Given the description of an element on the screen output the (x, y) to click on. 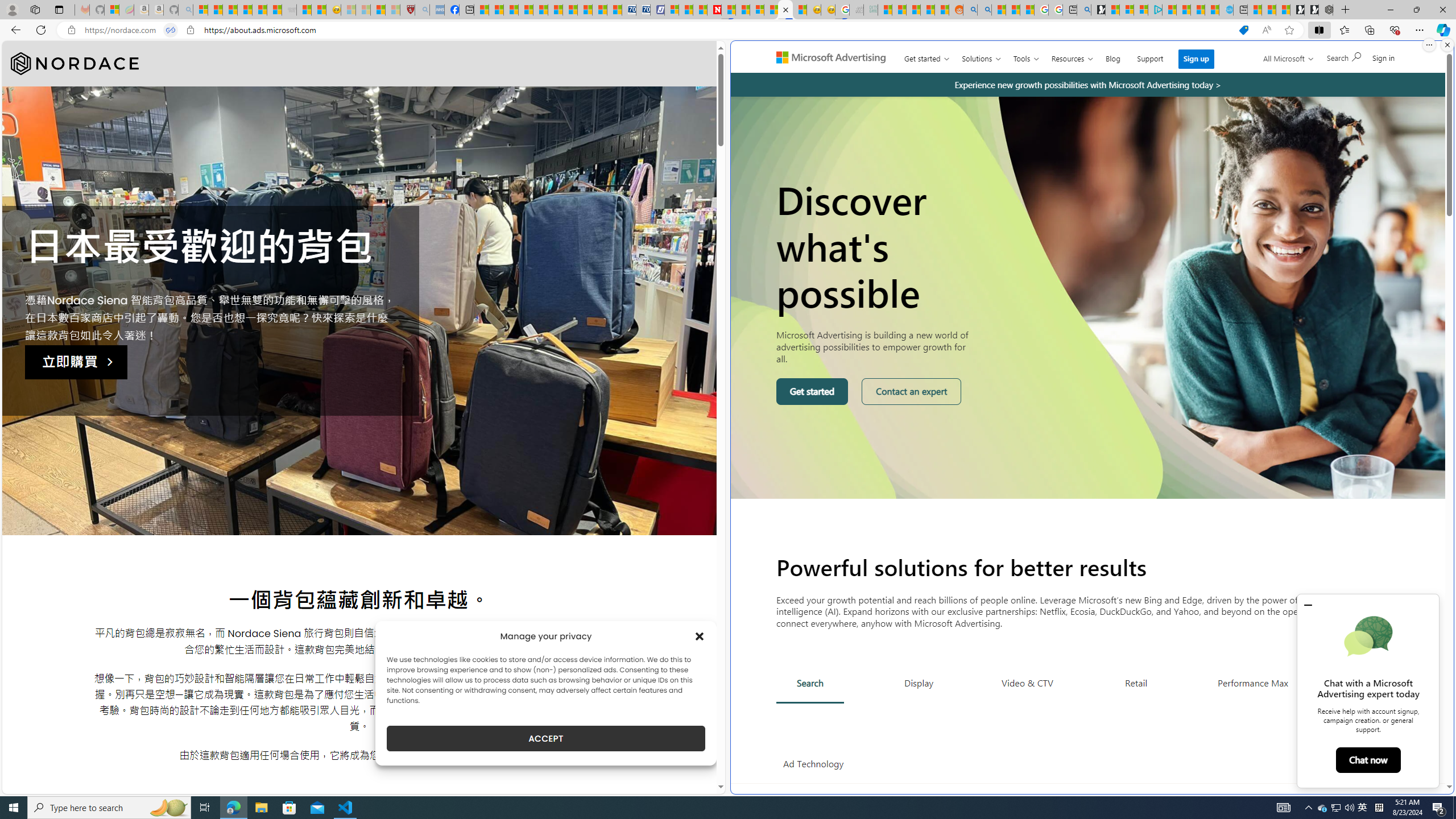
Support (1149, 56)
ACCEPT (545, 738)
